Given the description of an element on the screen output the (x, y) to click on. 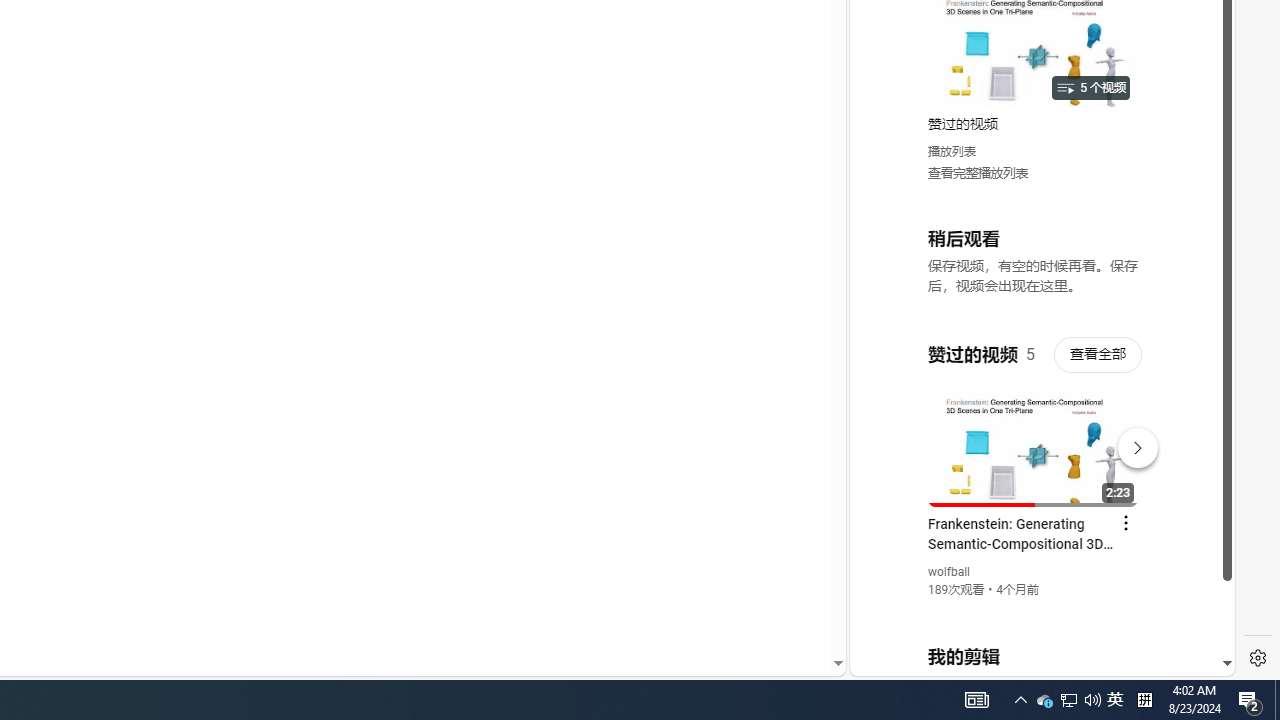
YouTube (1034, 432)
US[ju] (917, 660)
AutomationID: mfa_root (762, 603)
you (1034, 609)
YouTube - YouTube (1034, 266)
